Given the description of an element on the screen output the (x, y) to click on. 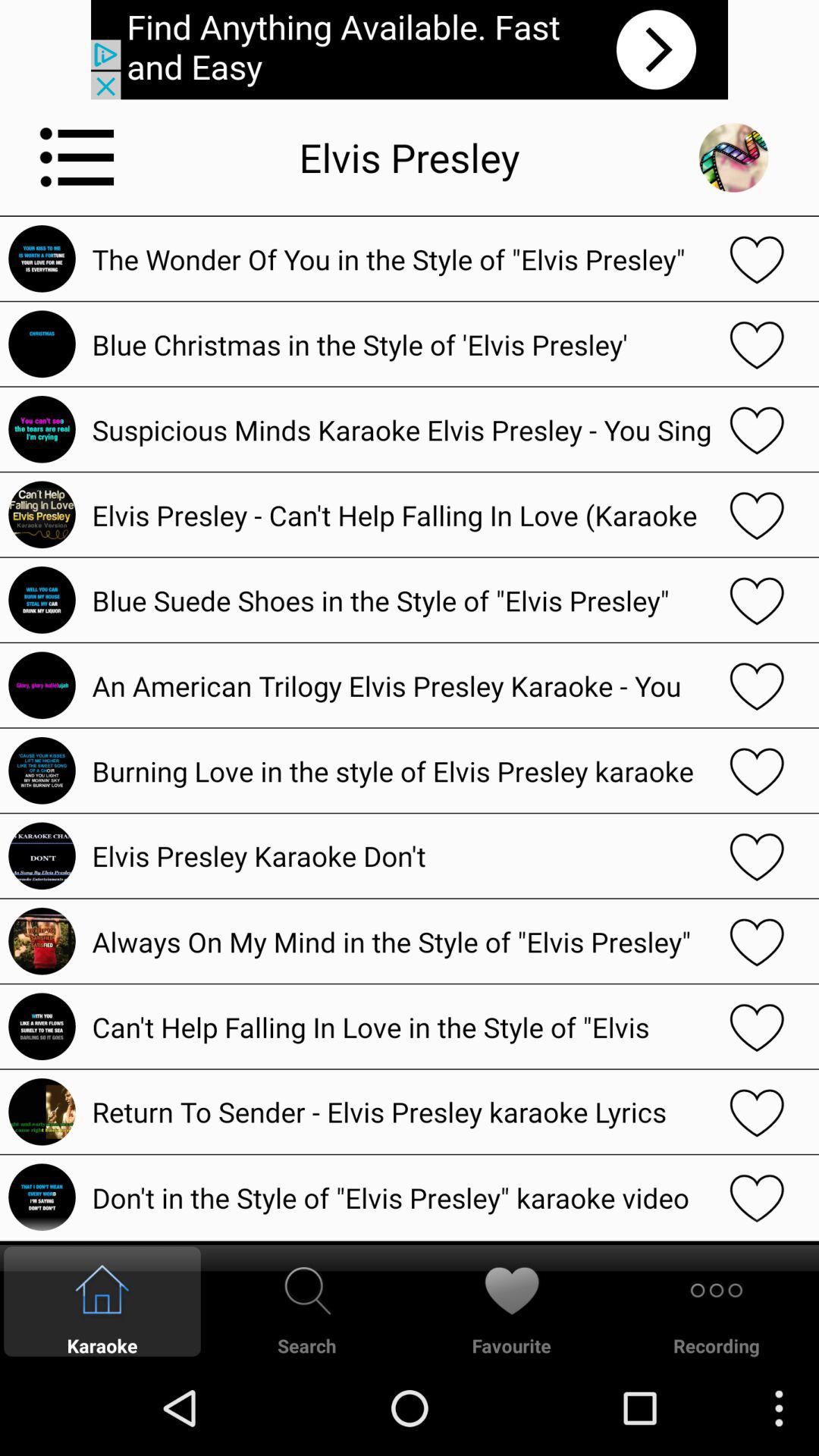
open options menu (77, 157)
